Given the description of an element on the screen output the (x, y) to click on. 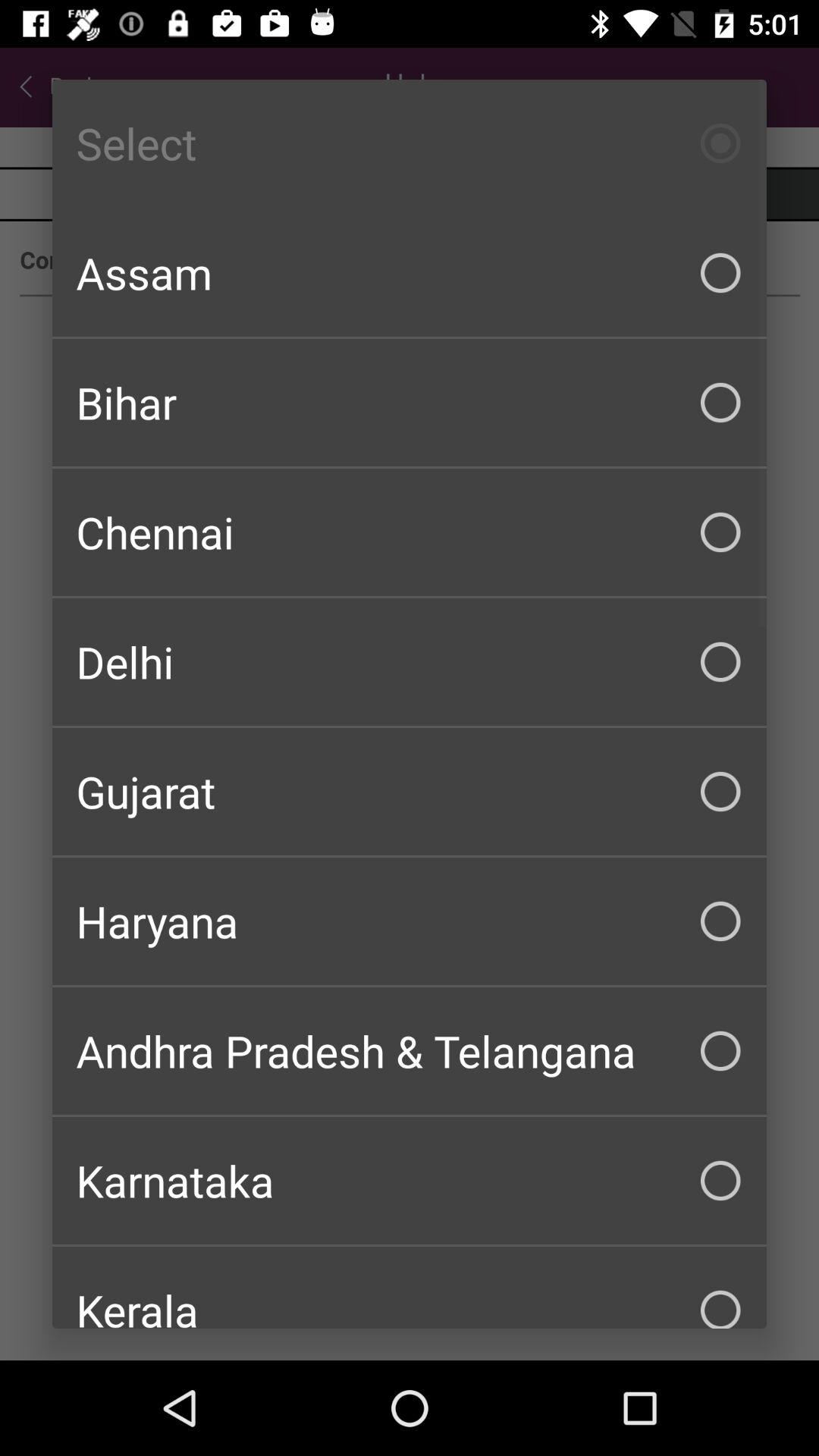
choose the icon below the select (409, 272)
